Given the description of an element on the screen output the (x, y) to click on. 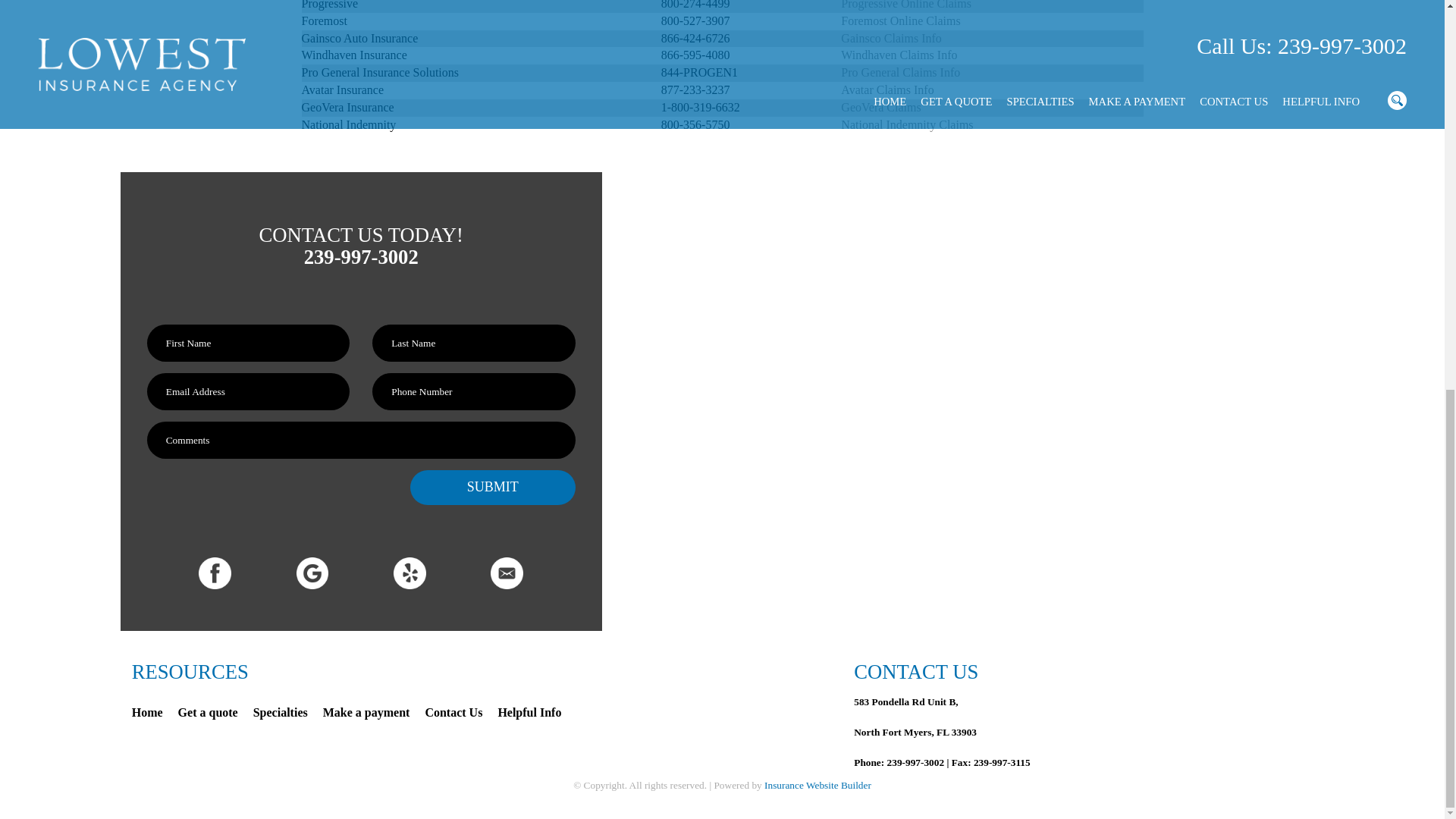
Insurance Website Builder (817, 785)
